Given the description of an element on the screen output the (x, y) to click on. 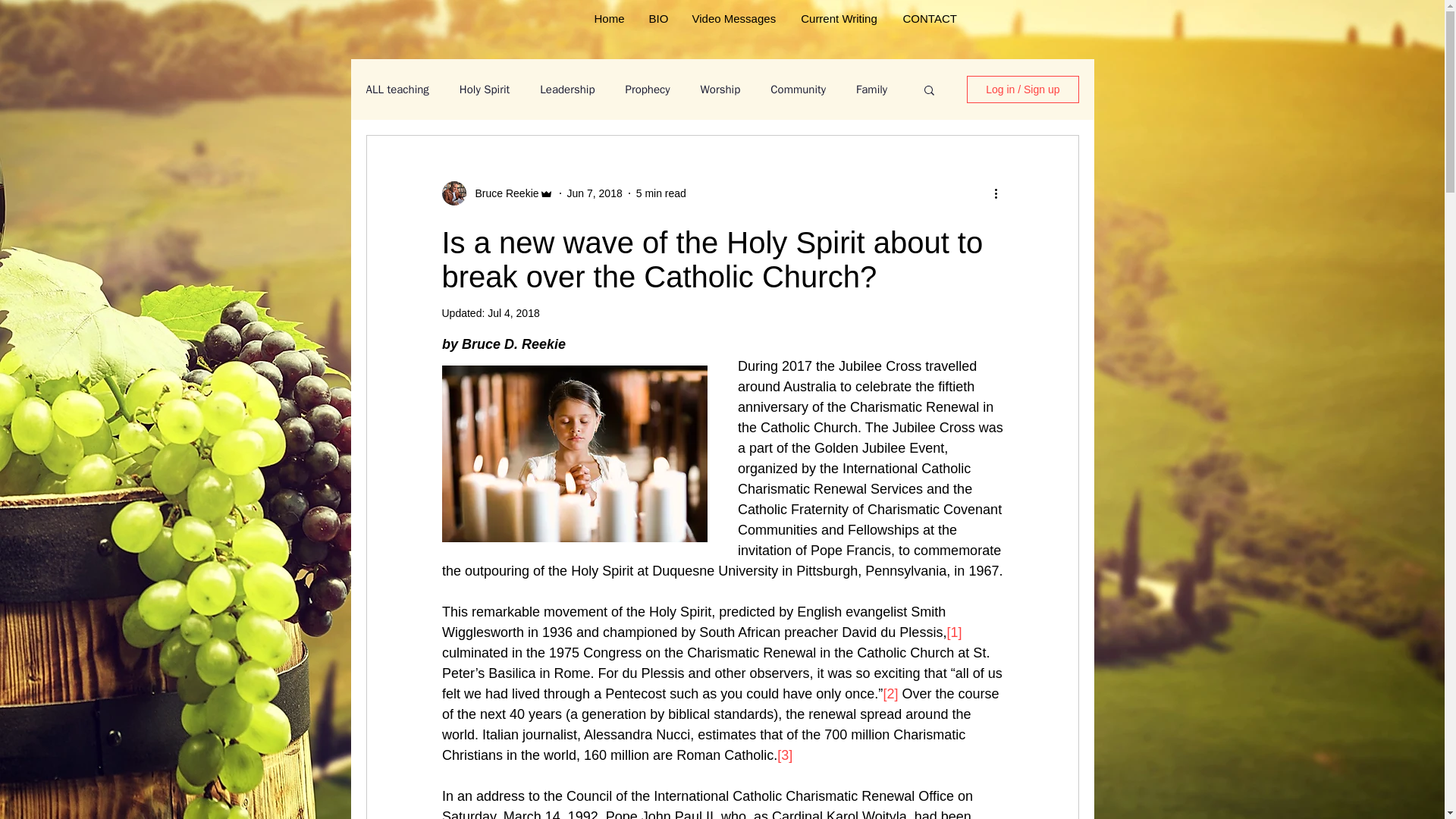
Worship (720, 88)
5 min read (660, 192)
Jul 4, 2018 (513, 313)
Video Messages (732, 18)
Home (608, 18)
ALL teaching (396, 88)
Current Writing (839, 18)
Holy Spirit (485, 88)
Bruce Reekie (501, 192)
Bruce Reekie (497, 192)
BIO (658, 18)
CONTACT (926, 18)
Family (871, 88)
Jun 7, 2018 (595, 192)
Prophecy (646, 88)
